Given the description of an element on the screen output the (x, y) to click on. 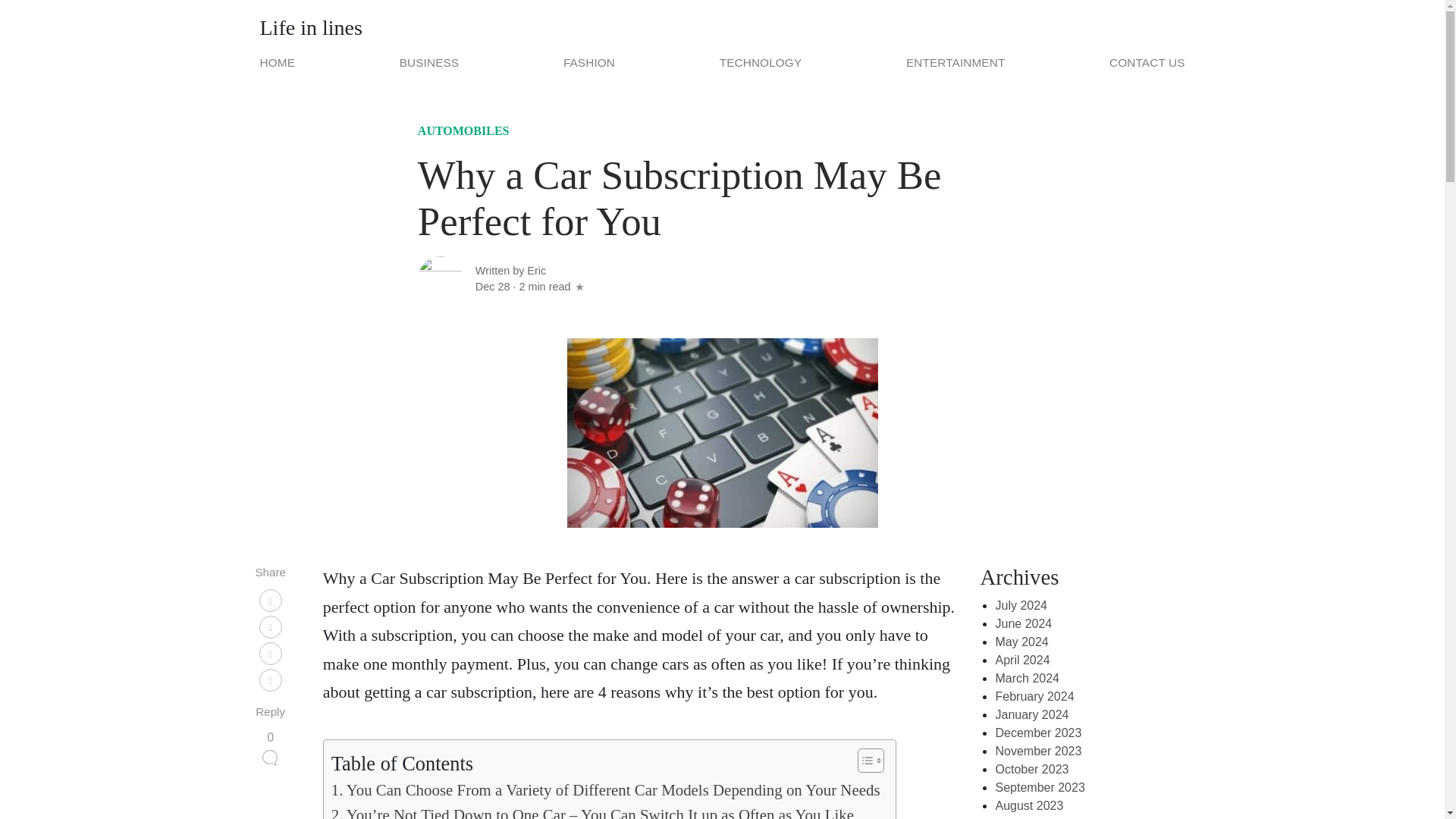
October 2023 (1031, 768)
December 2023 (1037, 732)
July 2023 (1020, 818)
ENTERTAINMENT (954, 62)
September 2023 (1039, 787)
June 2024 (1022, 623)
FASHION (589, 62)
July 2024 (1020, 604)
CONTACT US (1144, 62)
February 2024 (1034, 696)
